Given the description of an element on the screen output the (x, y) to click on. 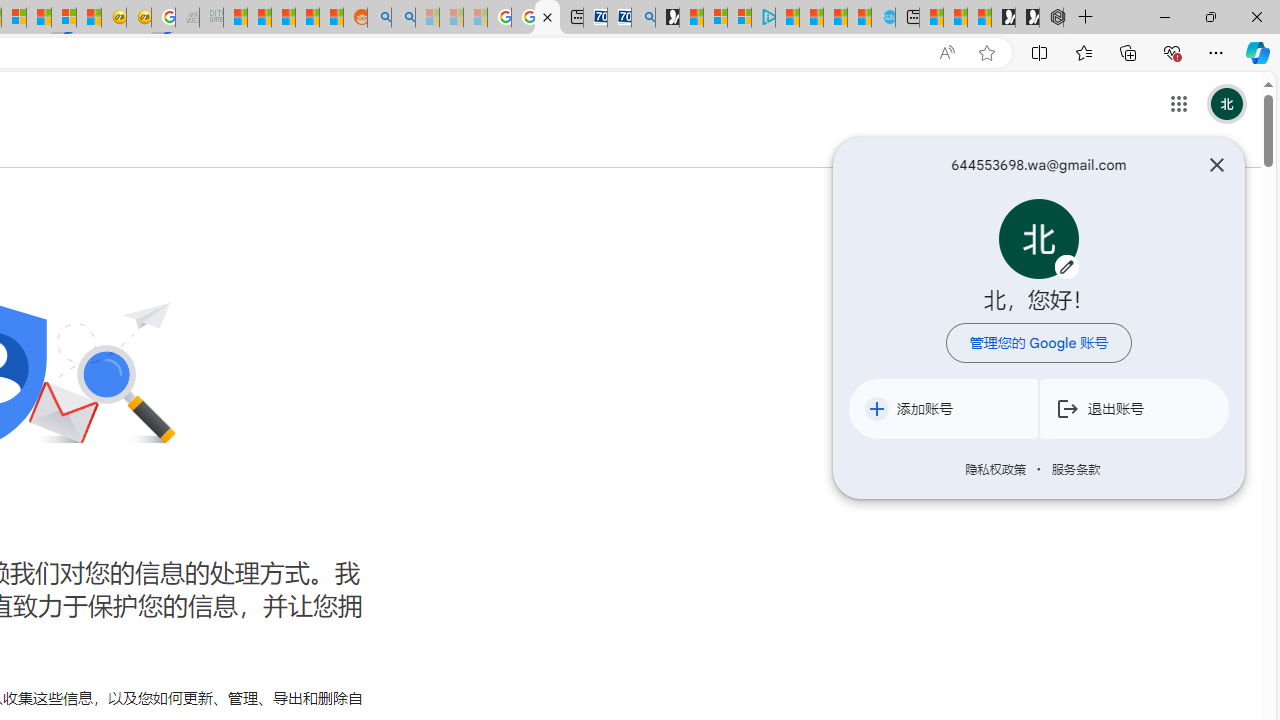
Cheap Car Rentals - Save70.com (619, 17)
Bing Real Estate - Home sales and rental listings (643, 17)
